Given the description of an element on the screen output the (x, y) to click on. 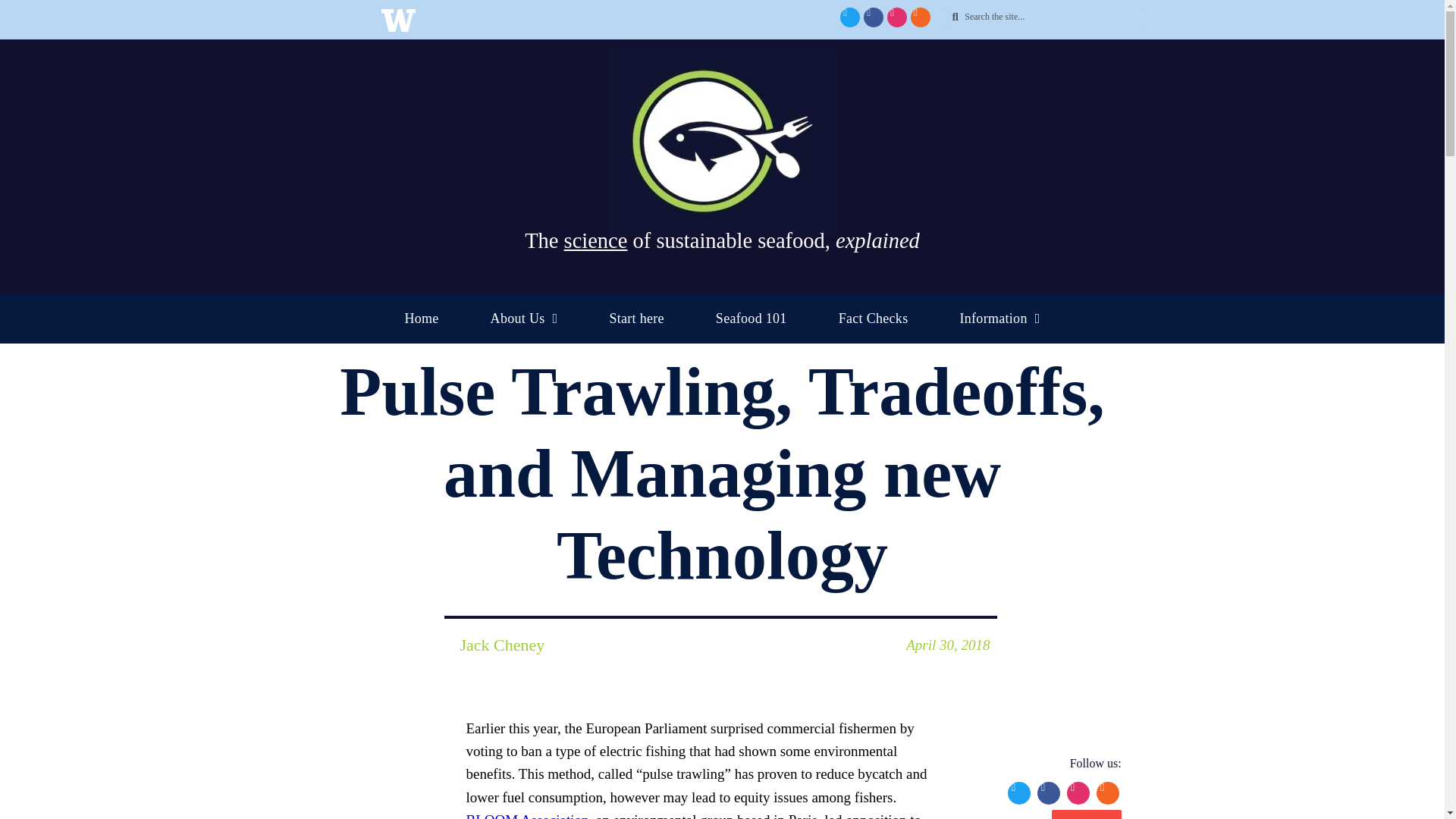
BLOOM Association (526, 815)
Seafood 101 (751, 318)
About Us (524, 318)
Start here (636, 318)
Home (420, 318)
Information (998, 318)
Fact Checks (873, 318)
